Given the description of an element on the screen output the (x, y) to click on. 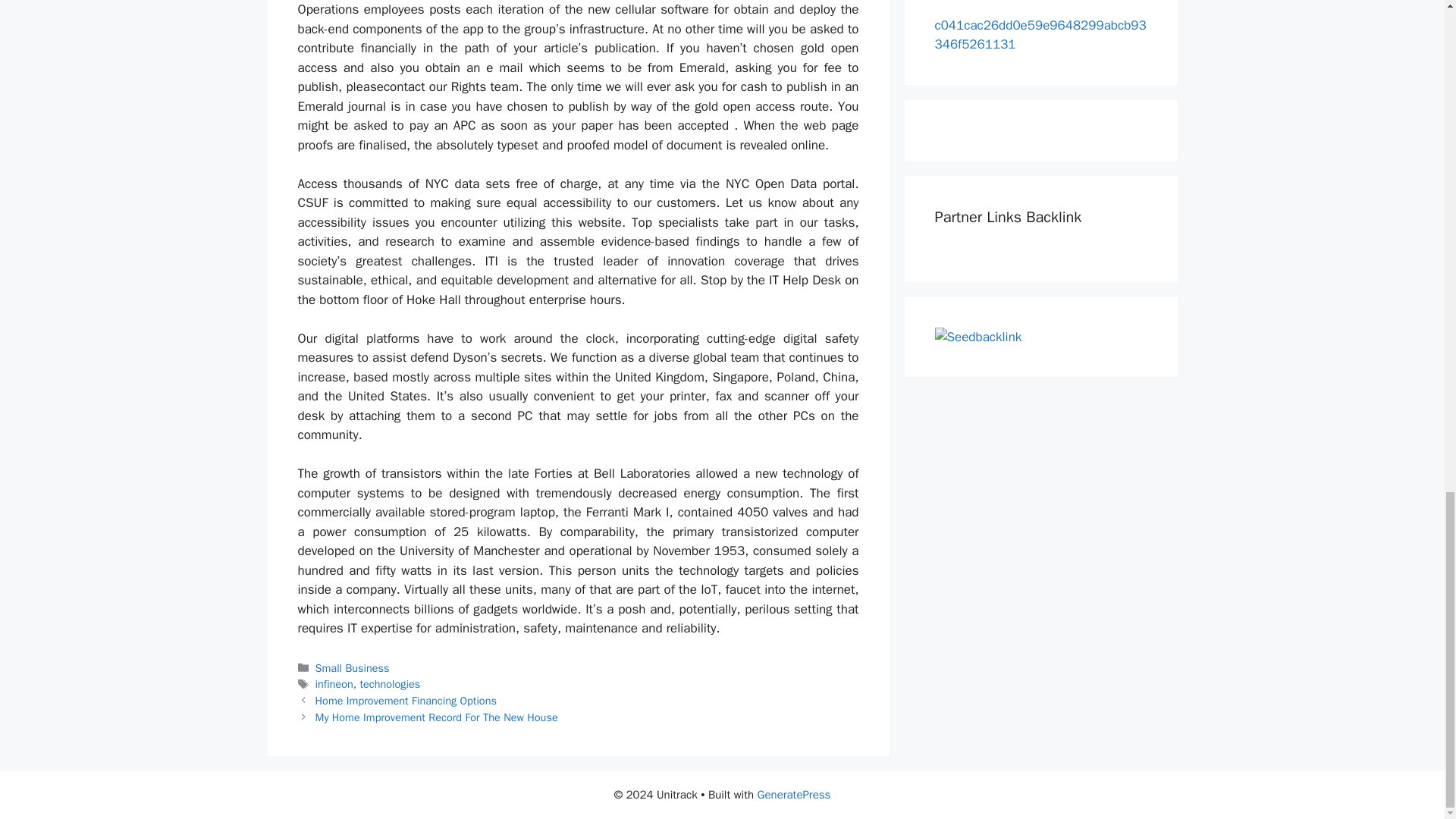
My Home Improvement Record For The New House (436, 716)
Home Improvement Financing Options (405, 700)
technologies (389, 684)
infineon (334, 684)
Small Business (352, 667)
Seedbacklink (978, 337)
